Given the description of an element on the screen output the (x, y) to click on. 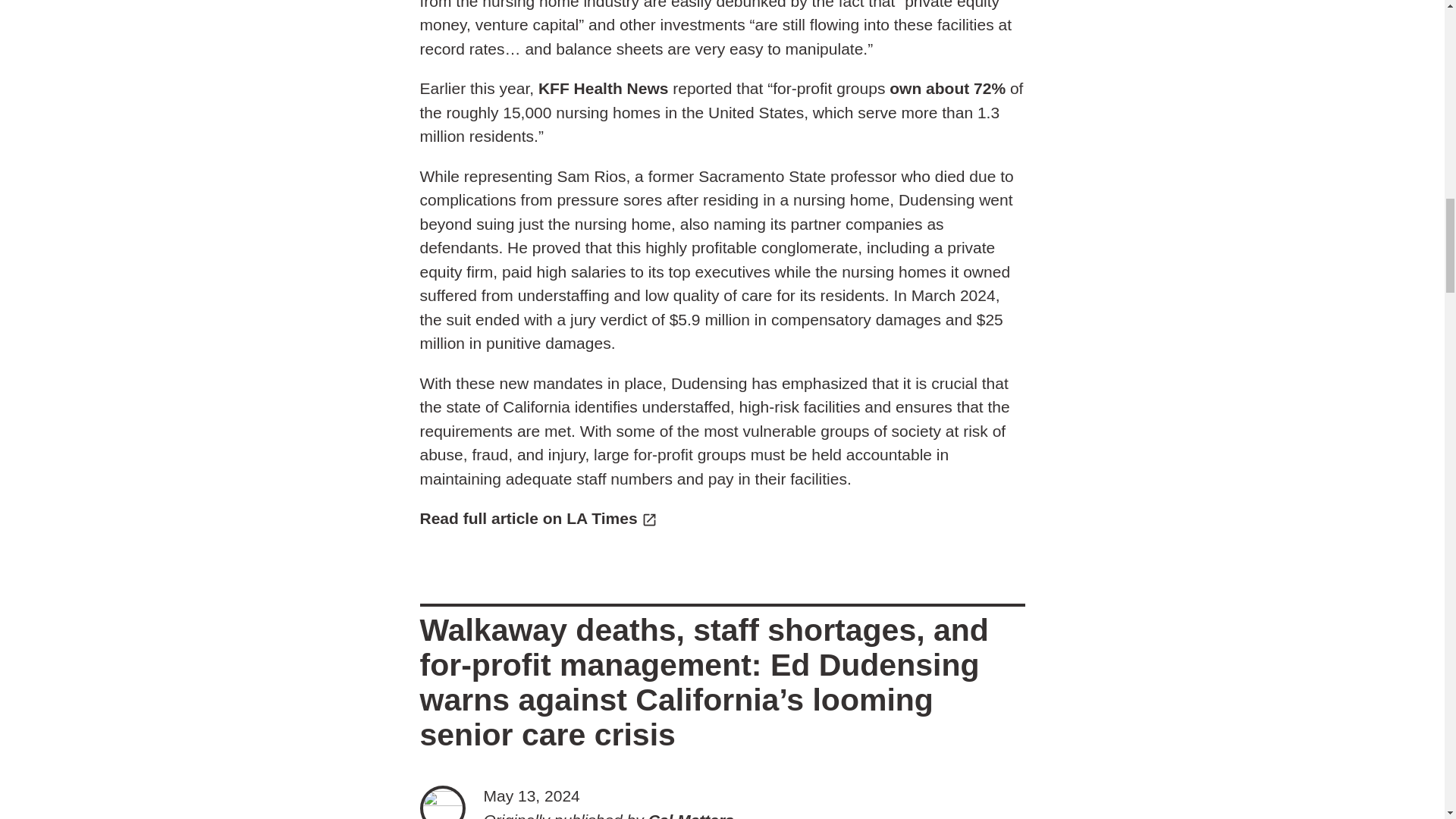
Read full article on LA Times (539, 518)
KFF Health News (603, 88)
Cal Matters (690, 815)
